Given the description of an element on the screen output the (x, y) to click on. 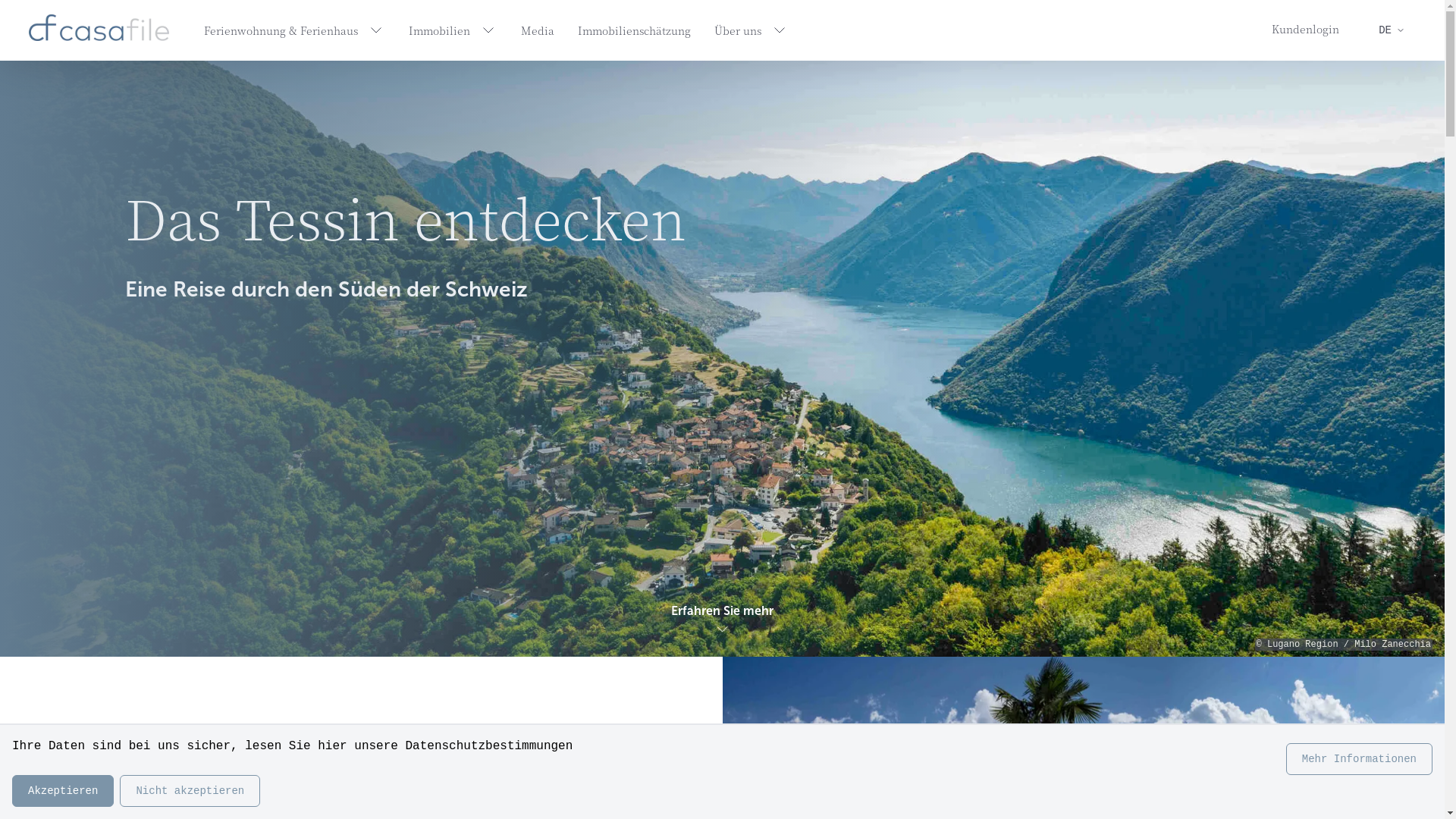
Media Element type: text (537, 30)
Immobilien Element type: text (452, 30)
Mehr Informationen Element type: text (1359, 759)
Kundenlogin Element type: text (1305, 28)
Erfahren Sie mehr Element type: text (722, 617)
DE Element type: text (1391, 29)
Akzeptieren Element type: text (62, 790)
Ferienwohnung & Ferienhaus Element type: text (294, 30)
Nicht akzeptieren Element type: text (189, 790)
